Given the description of an element on the screen output the (x, y) to click on. 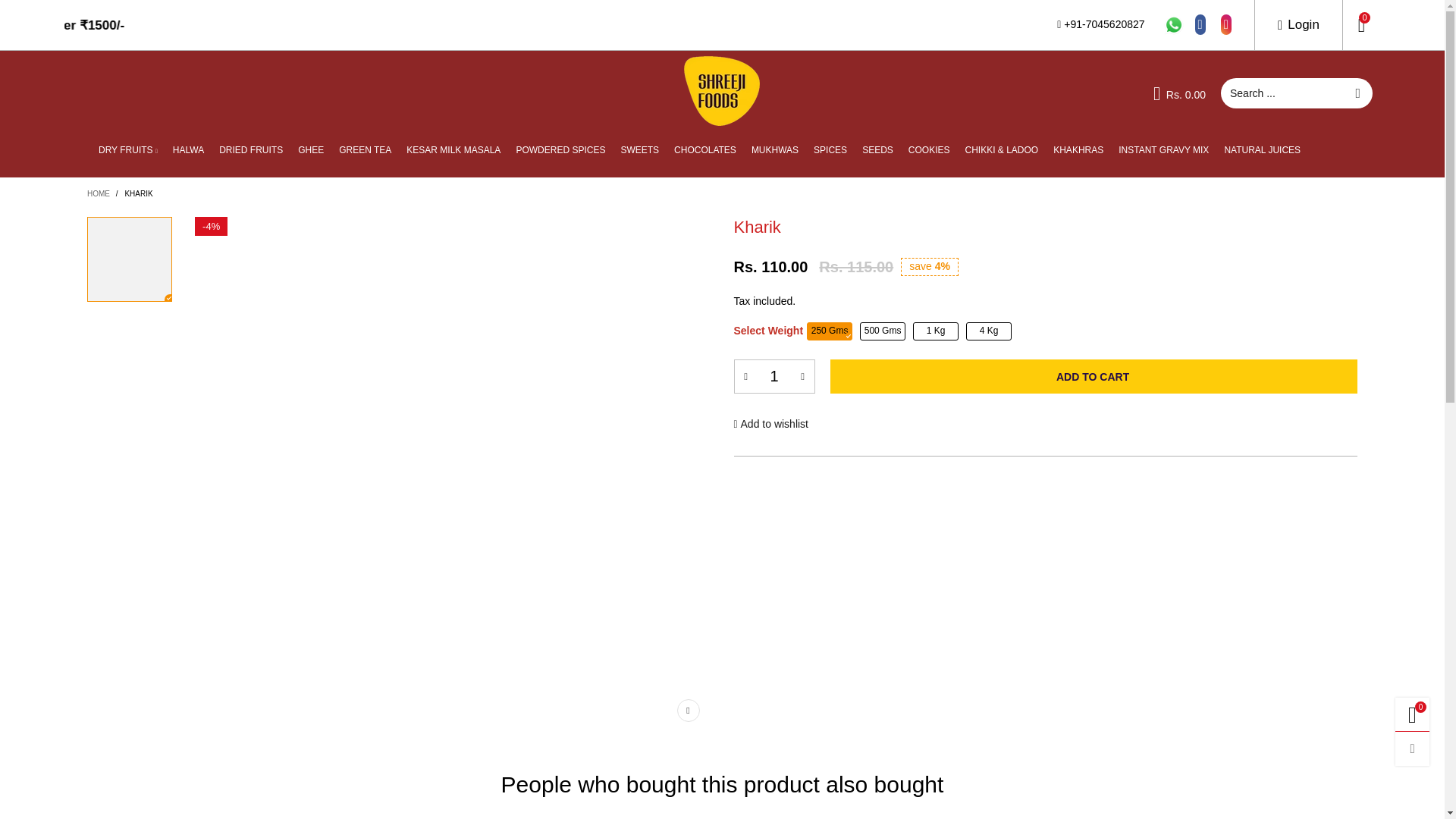
0 (1361, 24)
HALWA (188, 150)
Login (1298, 24)
Facebook (1200, 24)
Submit (1358, 92)
Sign In (1104, 205)
DRY FRUITS (128, 150)
DRIED FRUITS (250, 150)
DRY FRUITS (128, 150)
  Rs. 0.00 (1179, 93)
